Given the description of an element on the screen output the (x, y) to click on. 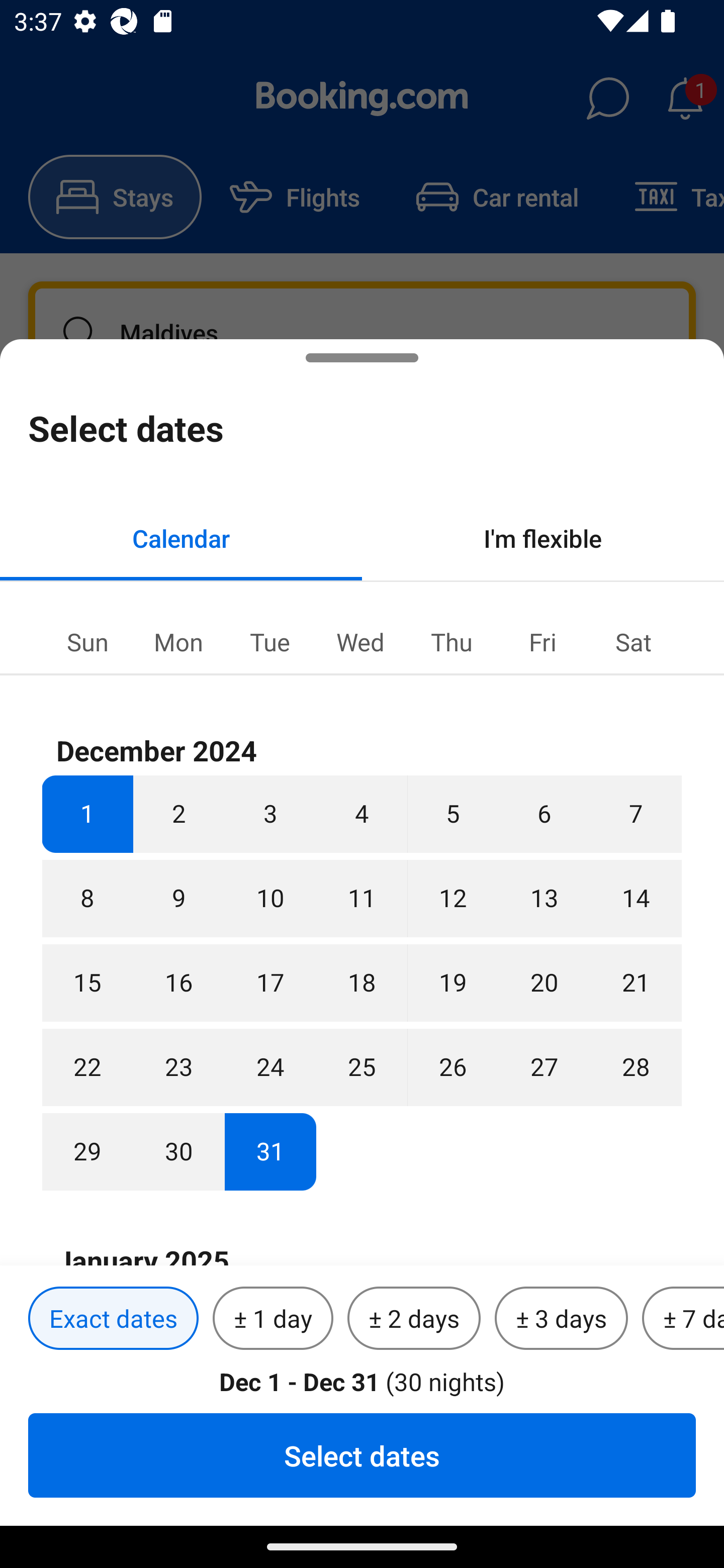
I'm flexible (543, 537)
Exact dates (113, 1318)
± 1 day (272, 1318)
± 2 days (413, 1318)
± 3 days (560, 1318)
± 7 days (683, 1318)
Select dates (361, 1454)
